Given the description of an element on the screen output the (x, y) to click on. 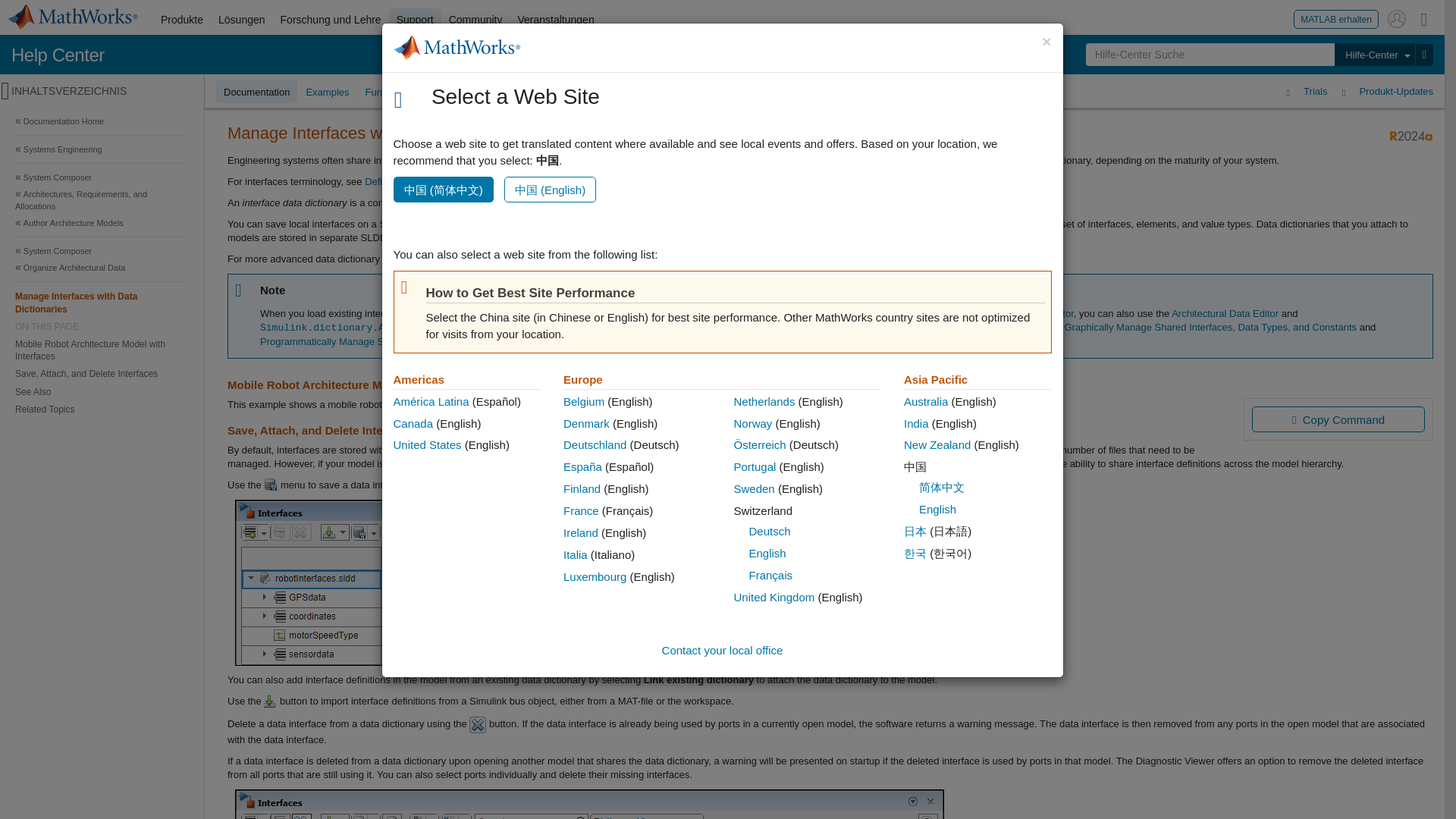
Community (476, 19)
ON THIS PAGE (100, 326)
Support (414, 19)
MATLAB erhalten (1336, 18)
Manage Interfaces with Data Dictionaries (100, 301)
Produkte (181, 19)
Matrix Menu (1423, 18)
Forschung und Lehre (330, 19)
Melden Sie sich bei Ihrem MathWorks Konto an (1396, 18)
Veranstaltungen (555, 19)
